Given the description of an element on the screen output the (x, y) to click on. 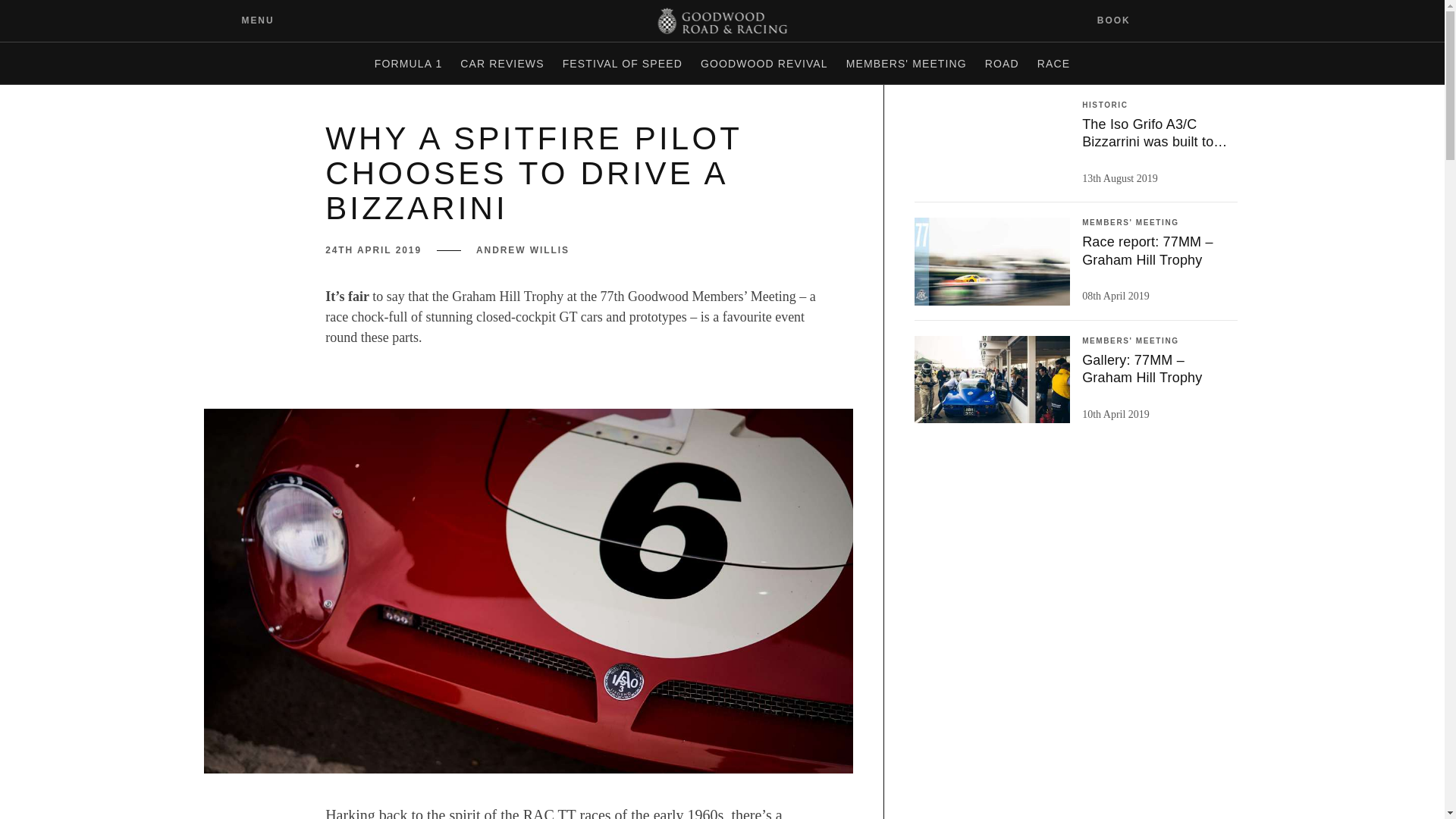
BOOK (1122, 20)
CAR REVIEWS (502, 63)
GOODWOOD REVIVAL (764, 63)
FORMULA 1 (408, 63)
MENU (246, 20)
FESTIVAL OF SPEED (622, 63)
ROAD (1001, 63)
RACE (1053, 63)
MEMBERS' MEETING (906, 63)
